Given the description of an element on the screen output the (x, y) to click on. 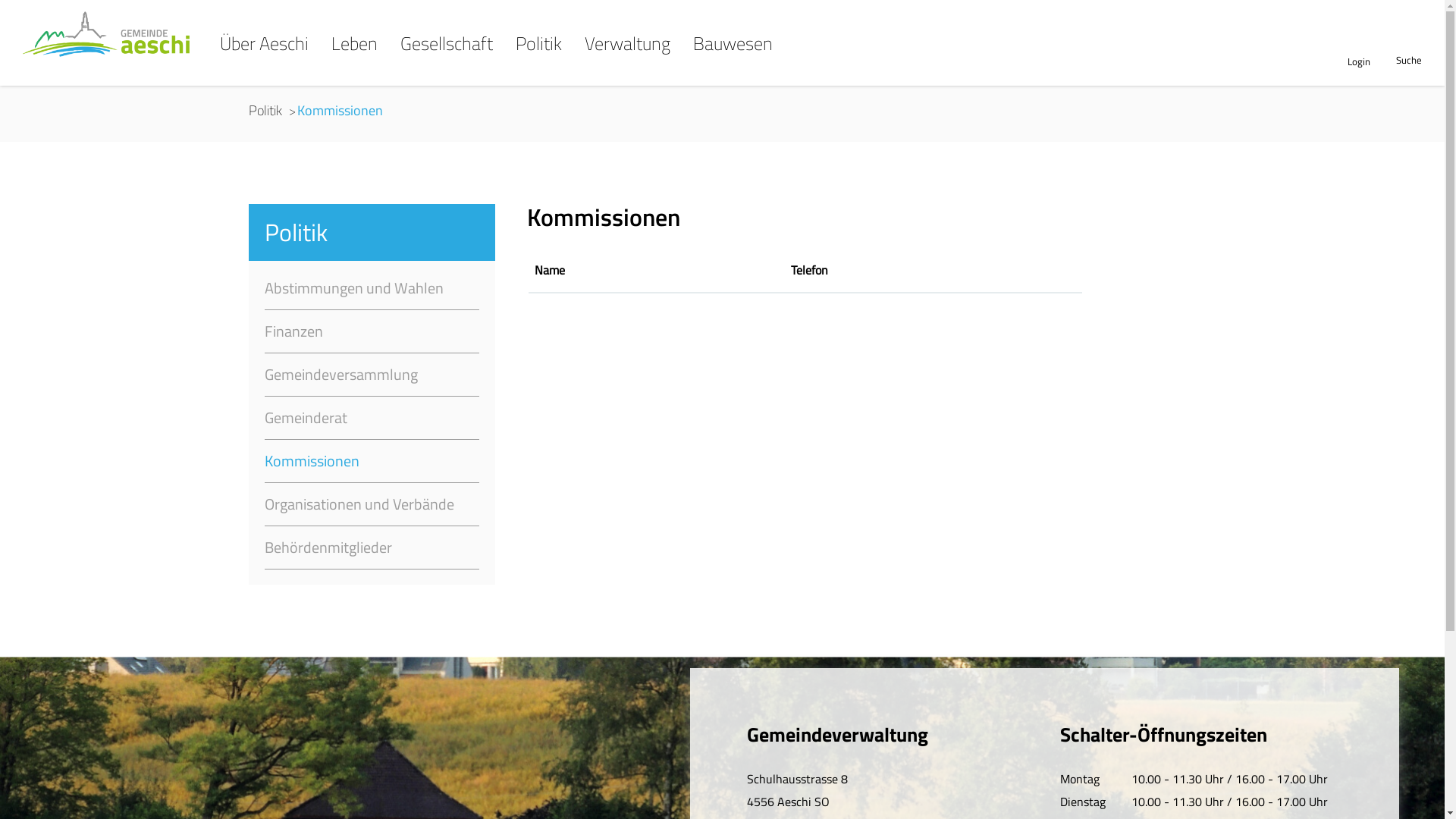
Gemeinderat Element type: text (370, 417)
Finanzen Element type: text (370, 331)
Politik Element type: text (265, 110)
Leben Element type: text (354, 59)
Suche Element type: text (1408, 59)
Login Element type: text (1358, 61)
Abstimmungen und Wahlen Element type: text (370, 288)
Login Element type: text (1358, 61)
Gemeindeversammlung Element type: text (370, 374)
Verwaltung Element type: text (627, 59)
zur Startseite Element type: text (0, 11)
Politik Element type: text (538, 59)
Bauwesen Element type: text (732, 59)
Gesellschaft Element type: text (446, 59)
